Given the description of an element on the screen output the (x, y) to click on. 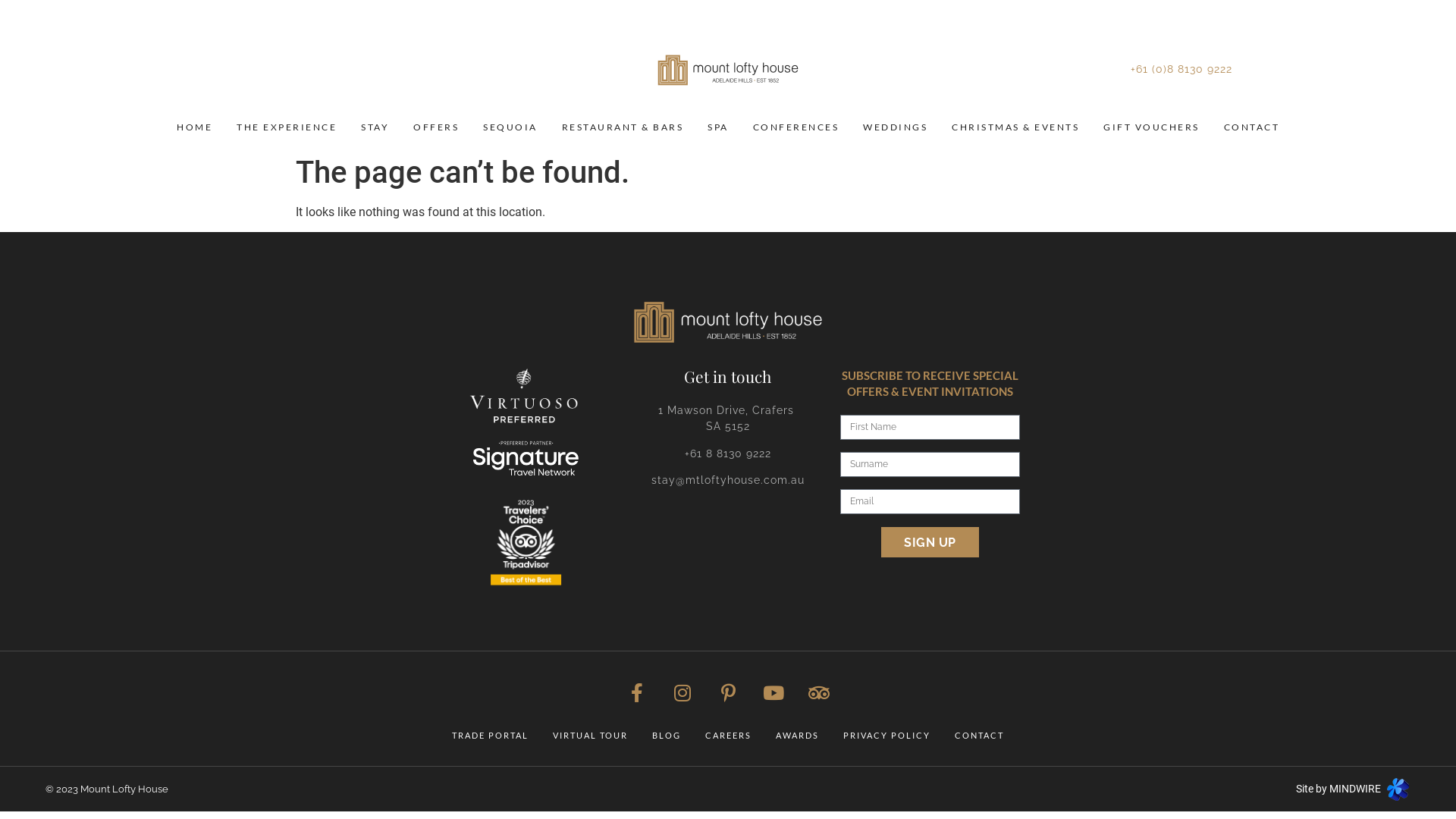
SIGN UP Element type: text (930, 542)
GIFT VOUCHERS Element type: text (1151, 126)
VIRTUAL TOUR Element type: text (589, 734)
CONTACT Element type: text (979, 734)
stay@mtloftyhouse.com.au Element type: text (727, 479)
OFFERS Element type: text (435, 126)
SEQUOIA Element type: text (510, 126)
SPA Element type: text (717, 126)
STAY Element type: text (374, 126)
PRIVACY POLICY Element type: text (886, 734)
CONFERENCES Element type: text (795, 126)
TRADE PORTAL Element type: text (489, 734)
CHRISTMAS & EVENTS Element type: text (1015, 126)
+61 (0)8 8130 9222 Element type: text (1181, 68)
AWARDS Element type: text (797, 734)
+61 8 8130 9222 Element type: text (727, 453)
BLOG Element type: text (666, 734)
HOME Element type: text (194, 126)
1 Mawson Drive, Crafers  Element type: text (727, 410)
RESTAURANT & BARS Element type: text (622, 126)
CAREERS Element type: text (728, 734)
SA 5152 Element type: text (727, 426)
WEDDINGS Element type: text (894, 126)
THE EXPERIENCE Element type: text (286, 126)
Site by MINDWIRE Element type: text (1352, 788)
CONTACT Element type: text (1251, 126)
